Given the description of an element on the screen output the (x, y) to click on. 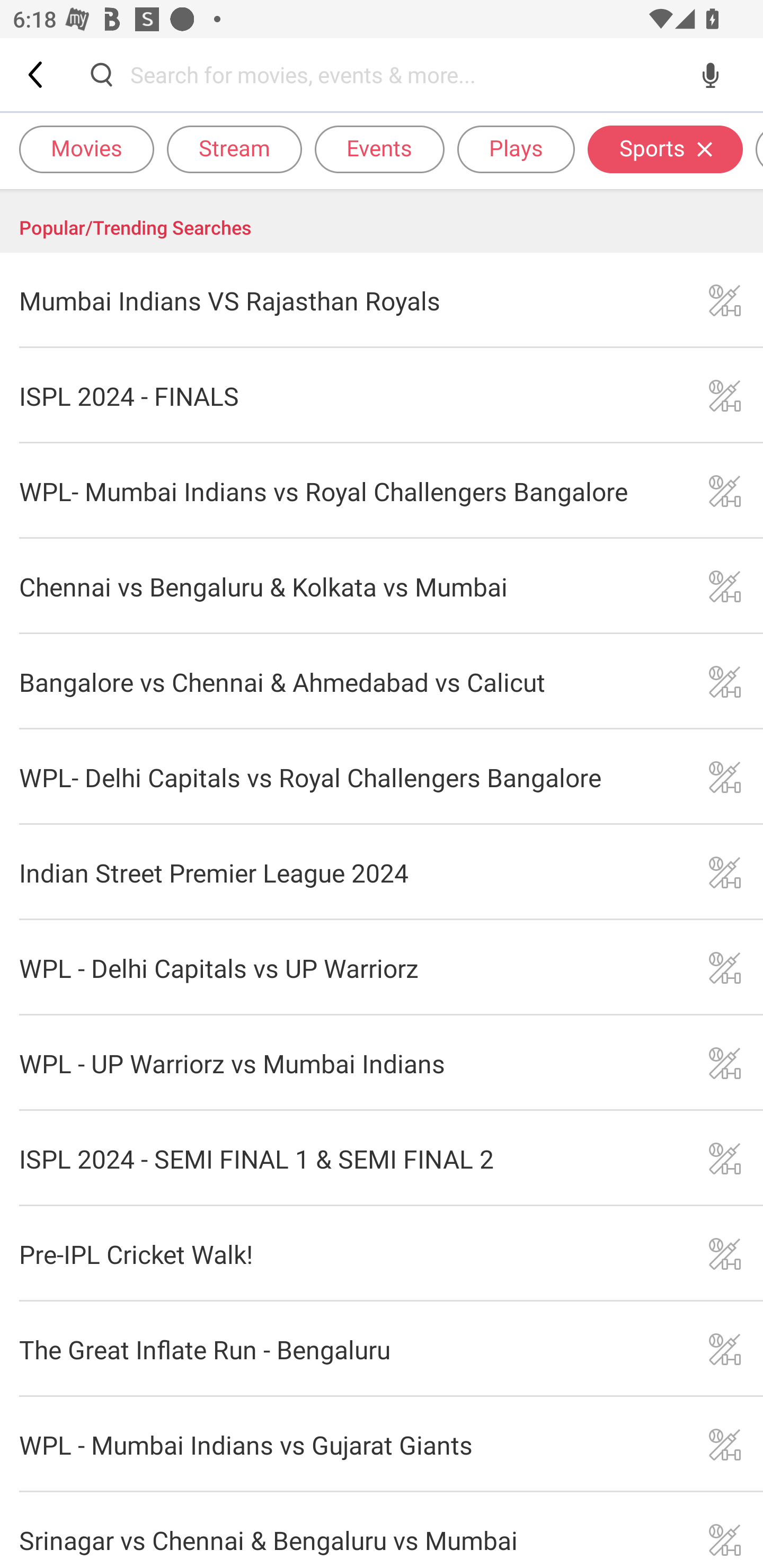
Back (36, 74)
Search for movies, events & more... (406, 74)
Movies (86, 148)
Stream (234, 148)
Events (379, 148)
Plays (515, 148)
Sports Clear (665, 148)
Popular/Trending Searches (381, 220)
Mumbai Indians VS Rajasthan Royals (381, 300)
ISPL 2024 - FINALS (381, 395)
WPL- Mumbai Indians vs Royal Challengers Bangalore (381, 491)
Chennai vs Bengaluru & Kolkata vs Mumbai (381, 586)
Bangalore vs Chennai & Ahmedabad vs Calicut (381, 681)
WPL- Delhi Capitals vs Royal Challengers Bangalore (381, 776)
Indian Street Premier League 2024 (381, 872)
WPL - Delhi Capitals vs UP Warriorz (381, 968)
WPL - UP Warriorz vs Mumbai Indians (381, 1063)
ISPL 2024 - SEMI FINAL 1 & SEMI FINAL 2 (381, 1157)
Pre-IPL Cricket Walk! (381, 1253)
The Great Inflate Run - Bengaluru (381, 1349)
WPL - Mumbai Indians vs Gujarat Giants (381, 1444)
Srinagar vs Chennai & Bengaluru vs Mumbai (381, 1530)
